Given the description of an element on the screen output the (x, y) to click on. 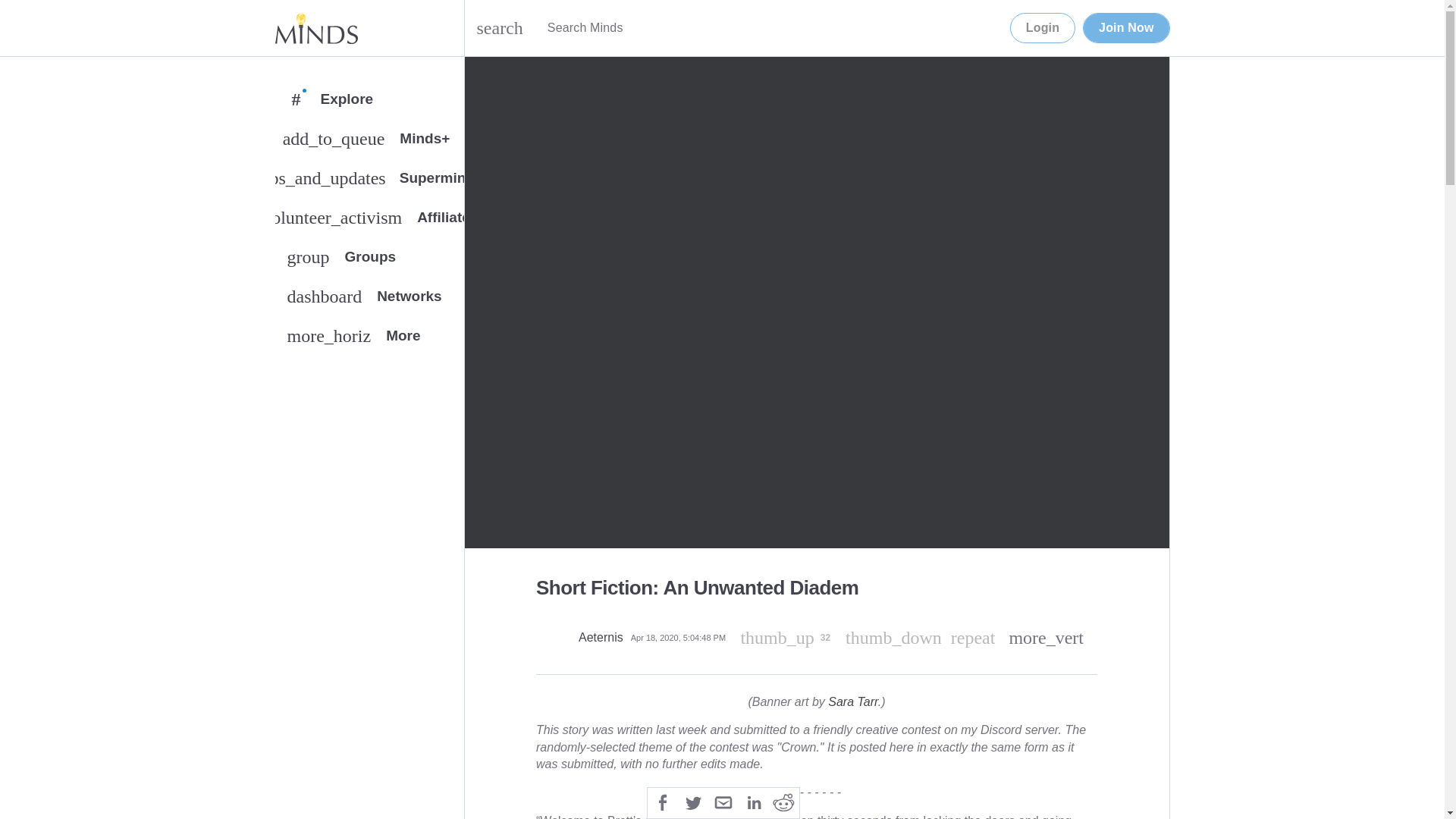
Join Now (1126, 28)
Reddit (783, 801)
Aeternis (600, 637)
Email (722, 801)
Login (1042, 28)
LinkedIn (753, 801)
repeat (972, 637)
Sara Tarr (852, 701)
Twitter (692, 801)
